Given the description of an element on the screen output the (x, y) to click on. 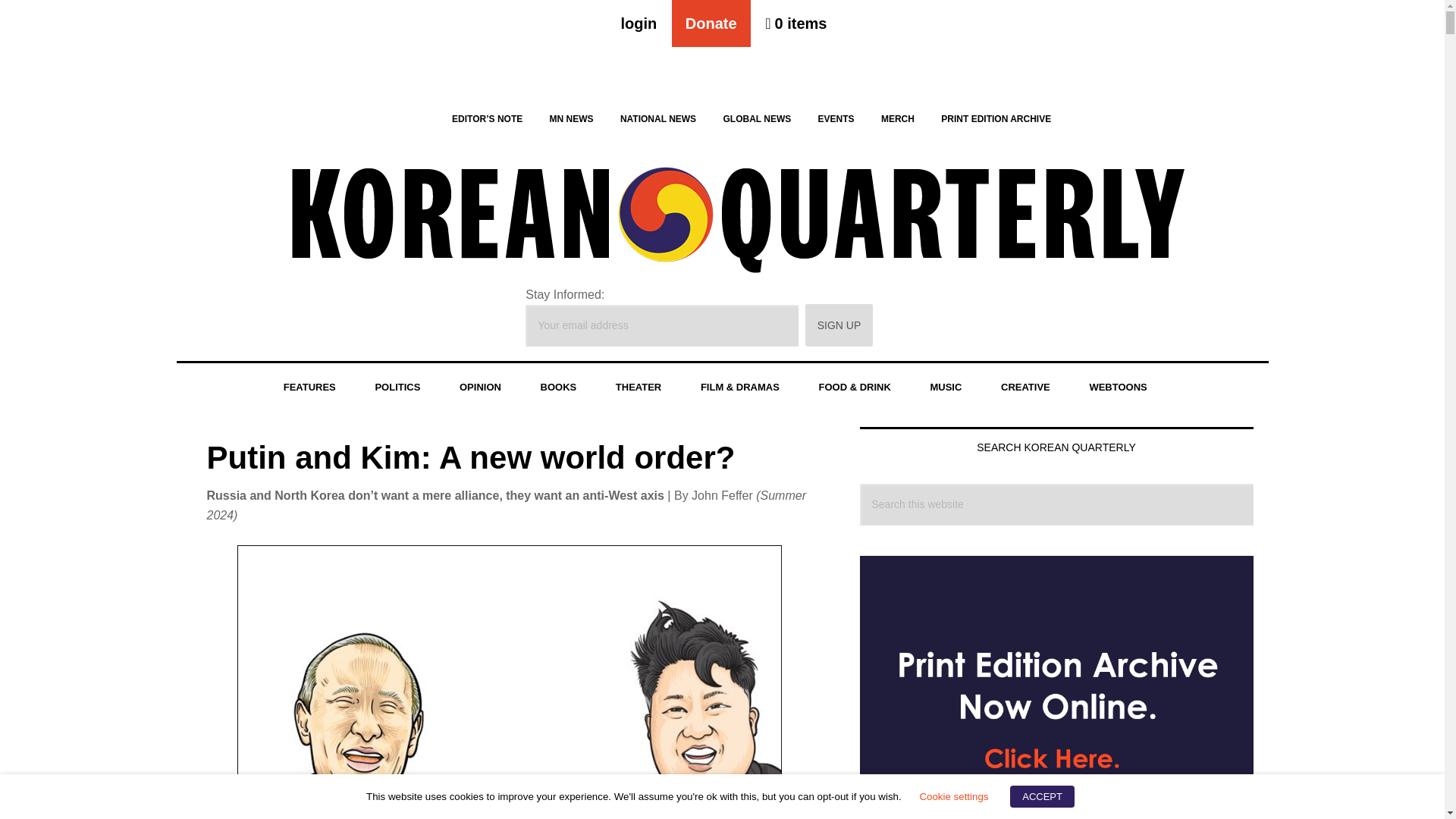
login (639, 23)
MERCH (897, 118)
PRINT EDITION ARCHIVE (995, 118)
Sign up (839, 324)
Start shopping (795, 23)
EVENTS (836, 118)
OPINION (480, 387)
WEBTOONS (1117, 387)
GLOBAL NEWS (757, 118)
BOOKS (558, 387)
THEATER (638, 387)
0 items (795, 23)
POLITICS (397, 387)
NATIONAL NEWS (658, 118)
MN NEWS (571, 118)
